Given the description of an element on the screen output the (x, y) to click on. 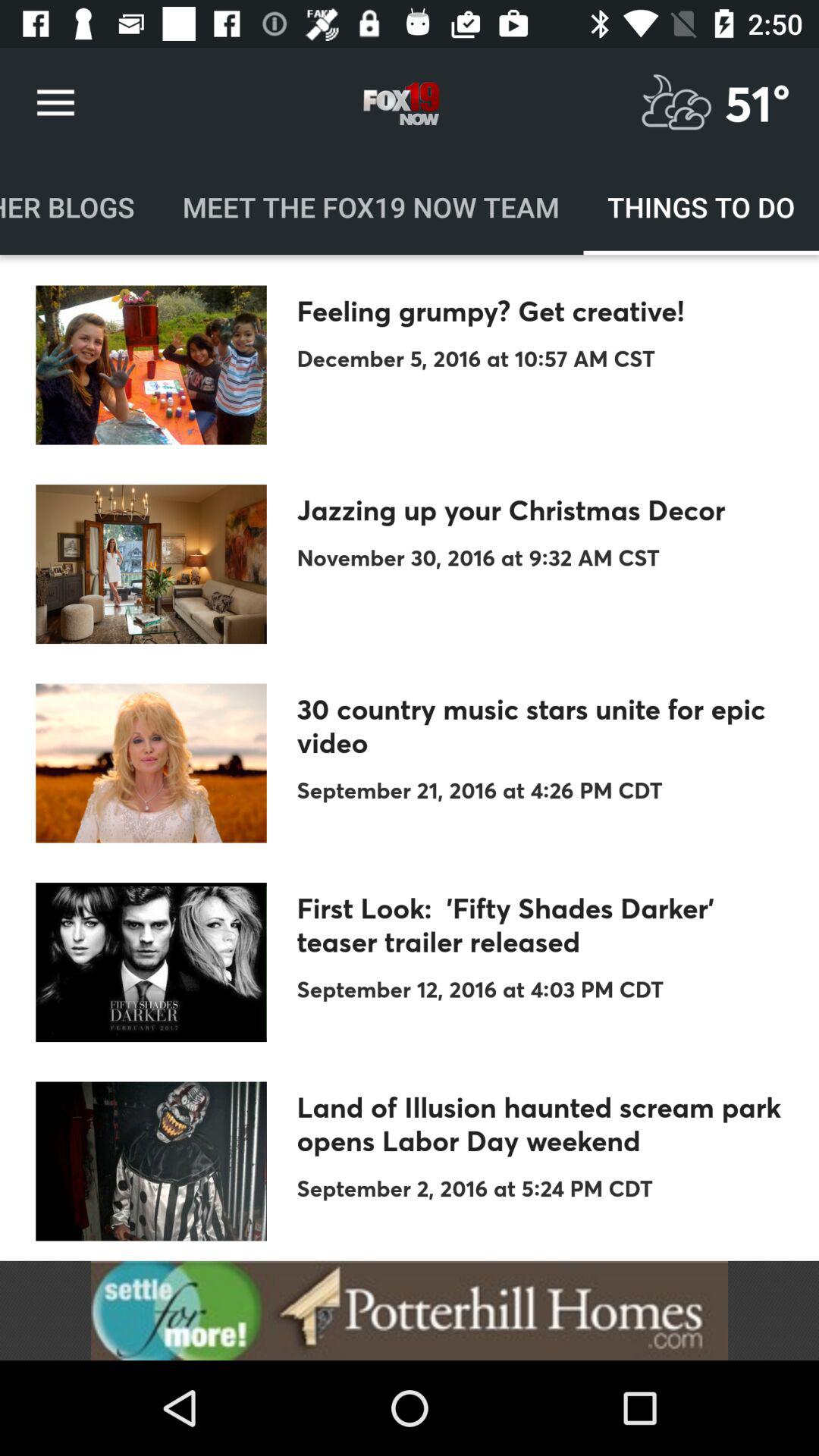
for weather (676, 103)
